Given the description of an element on the screen output the (x, y) to click on. 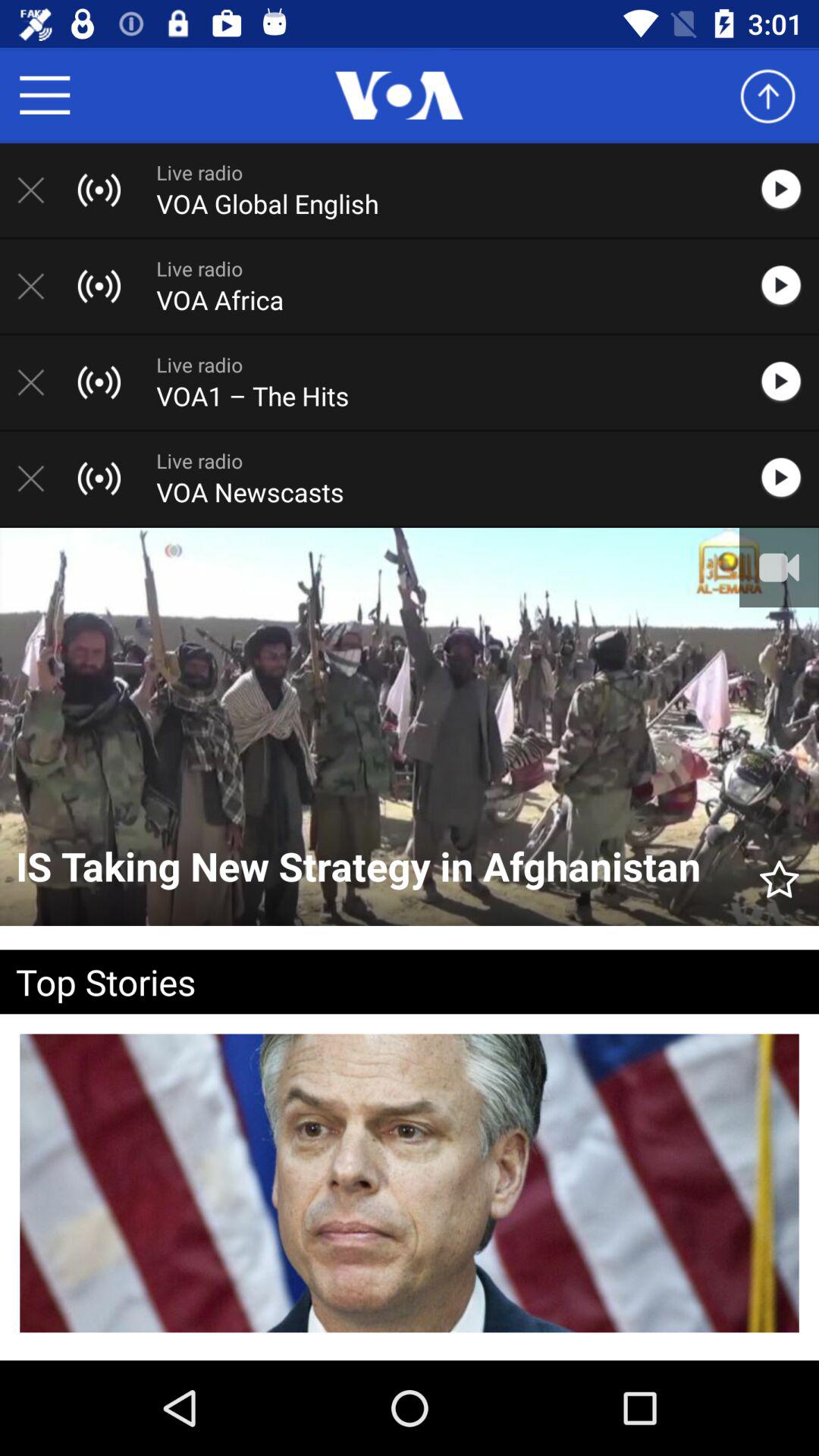
select trump s pick icon (409, 1356)
